Given the description of an element on the screen output the (x, y) to click on. 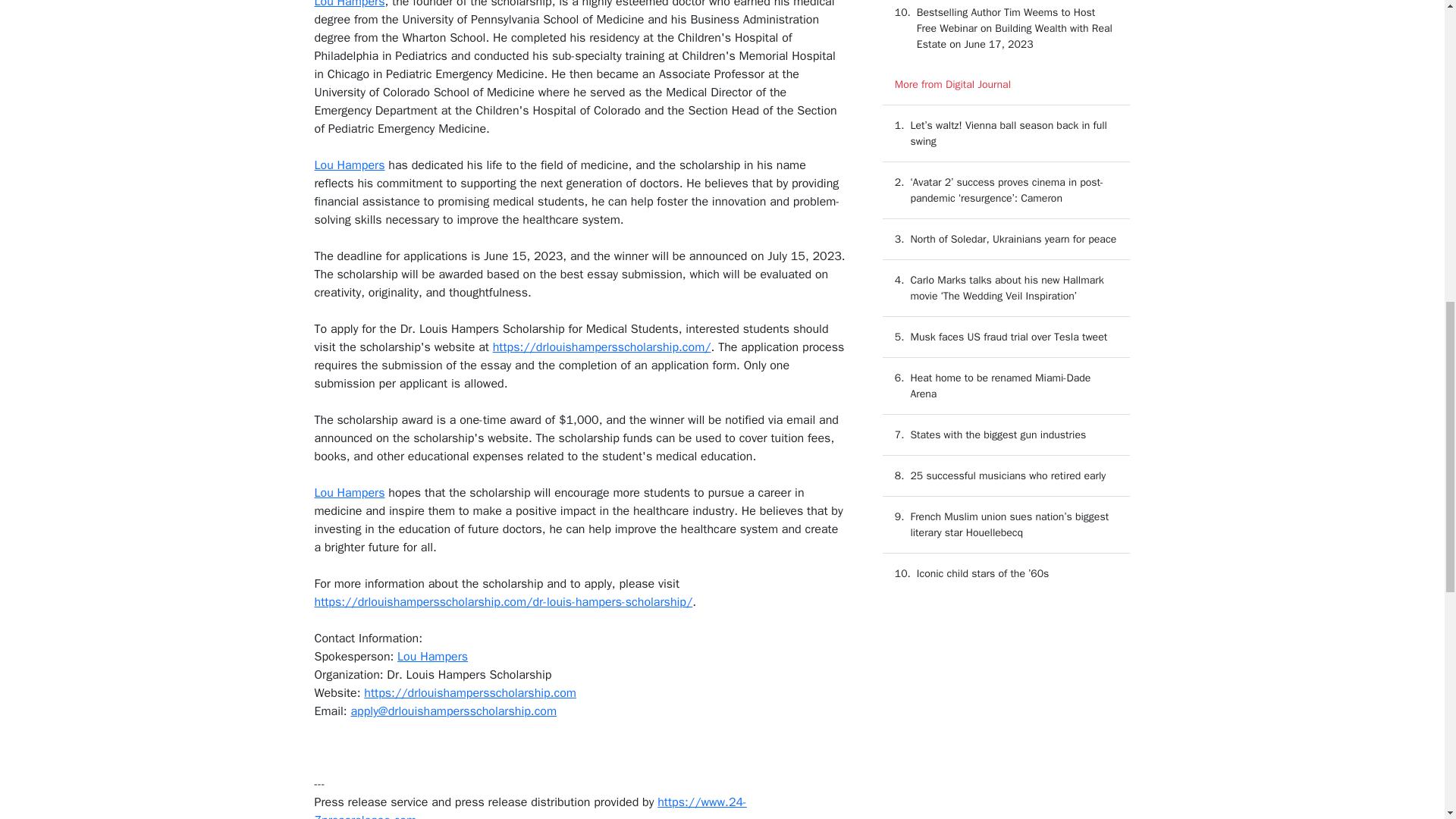
North of Soledar, Ukrainians yearn for peace (1013, 238)
25 successful musicians who retired early (1007, 475)
Lou Hampers (349, 492)
Lou Hampers (349, 165)
Heat home to be renamed Miami-Dade Arena (1000, 385)
Lou Hampers (432, 656)
Musk faces US fraud trial over Tesla tweet (1008, 336)
States with the biggest gun industries (998, 434)
Lou Hampers (349, 4)
